Given the description of an element on the screen output the (x, y) to click on. 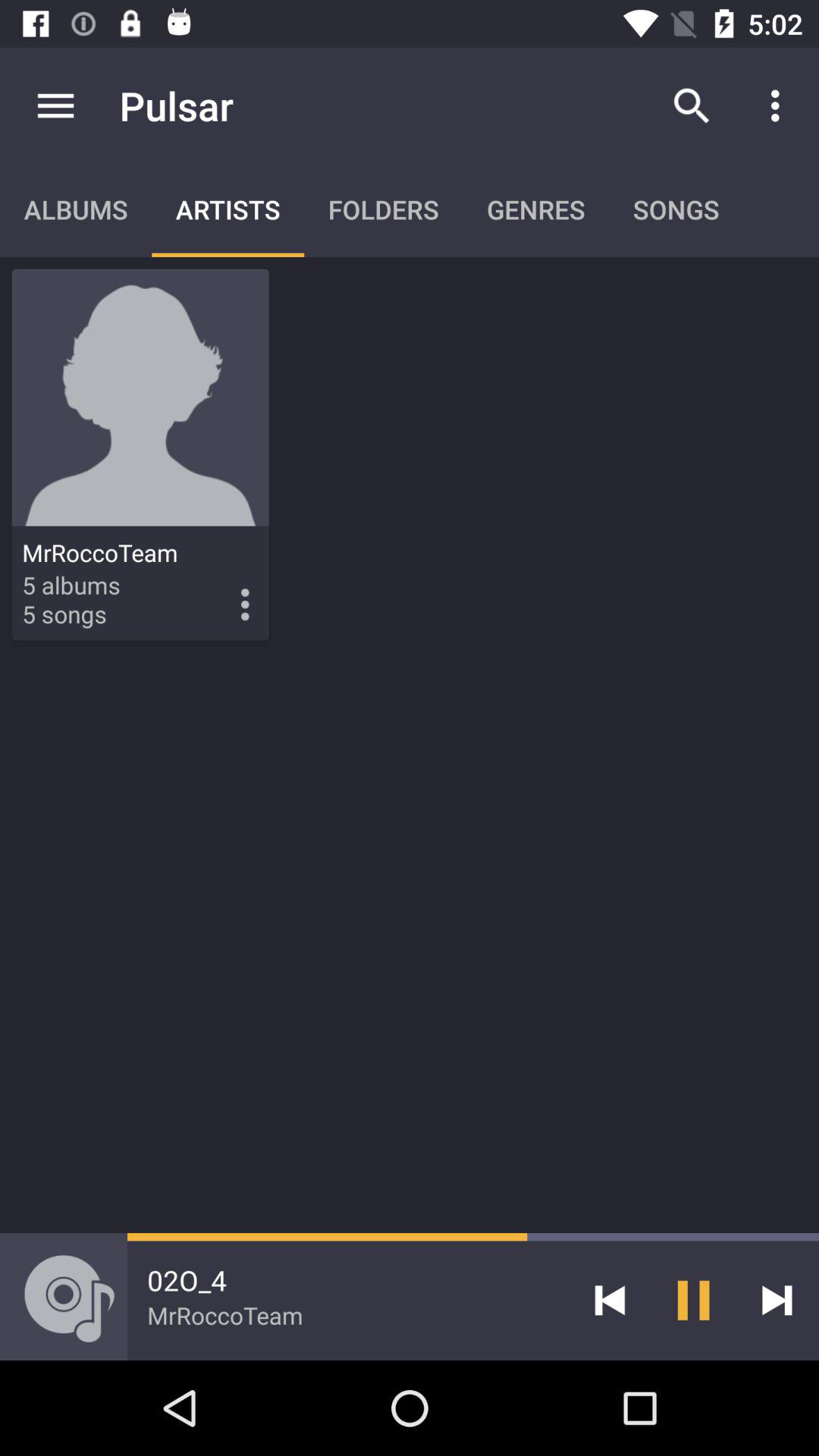
open item next to 02o_4 (609, 1300)
